Given the description of an element on the screen output the (x, y) to click on. 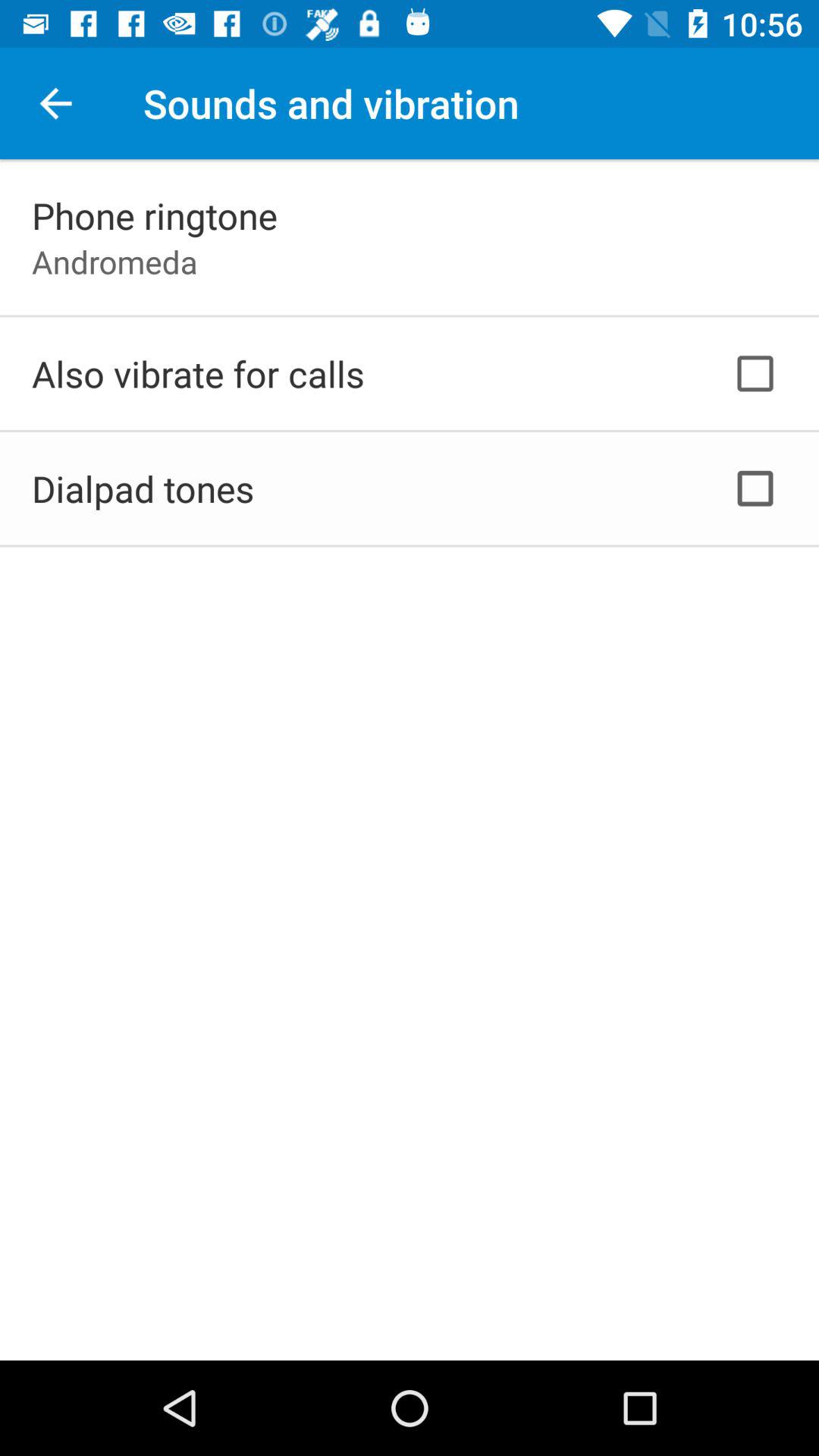
turn on item below the also vibrate for (142, 488)
